Given the description of an element on the screen output the (x, y) to click on. 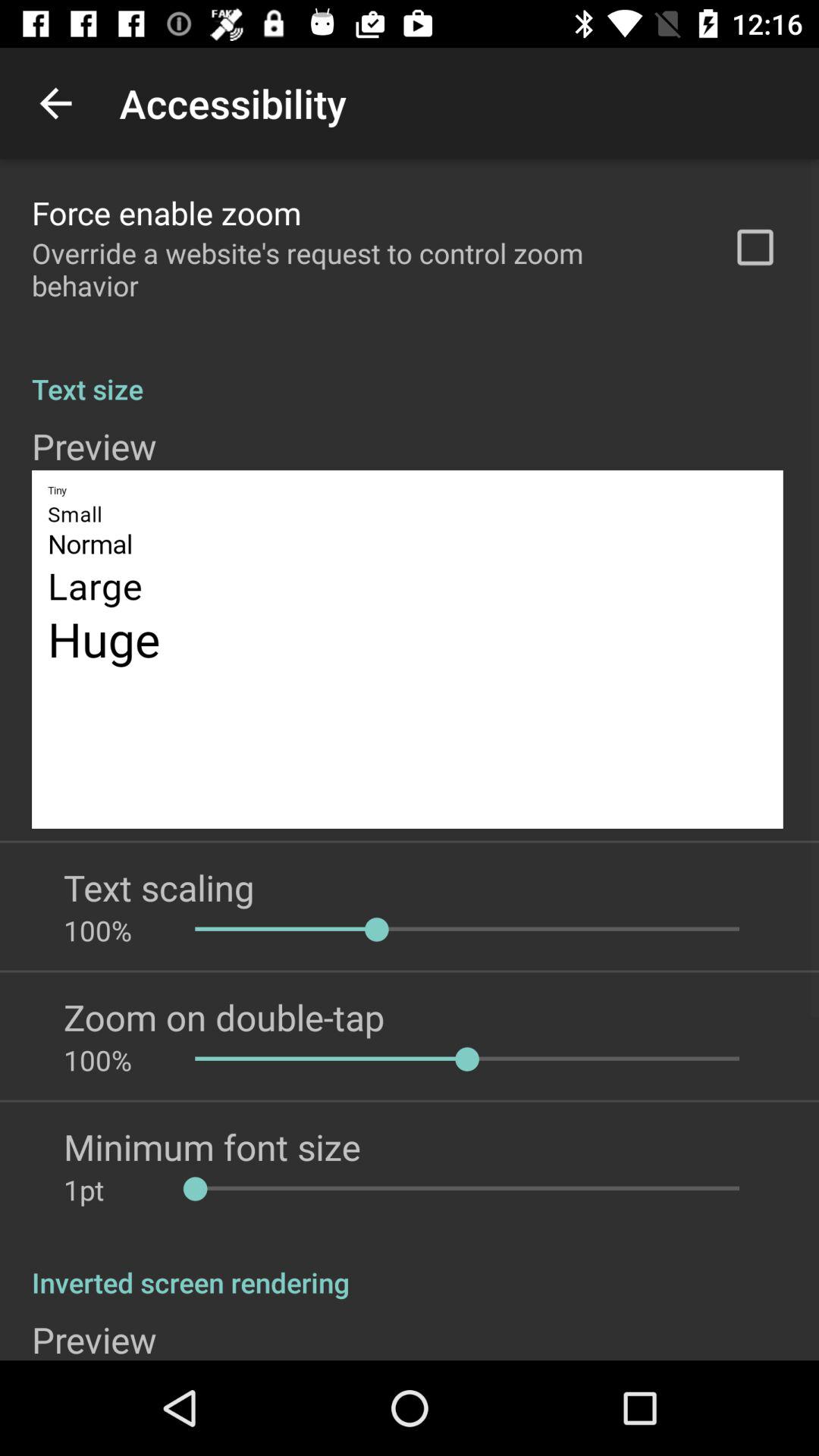
open app above the text size icon (755, 247)
